Given the description of an element on the screen output the (x, y) to click on. 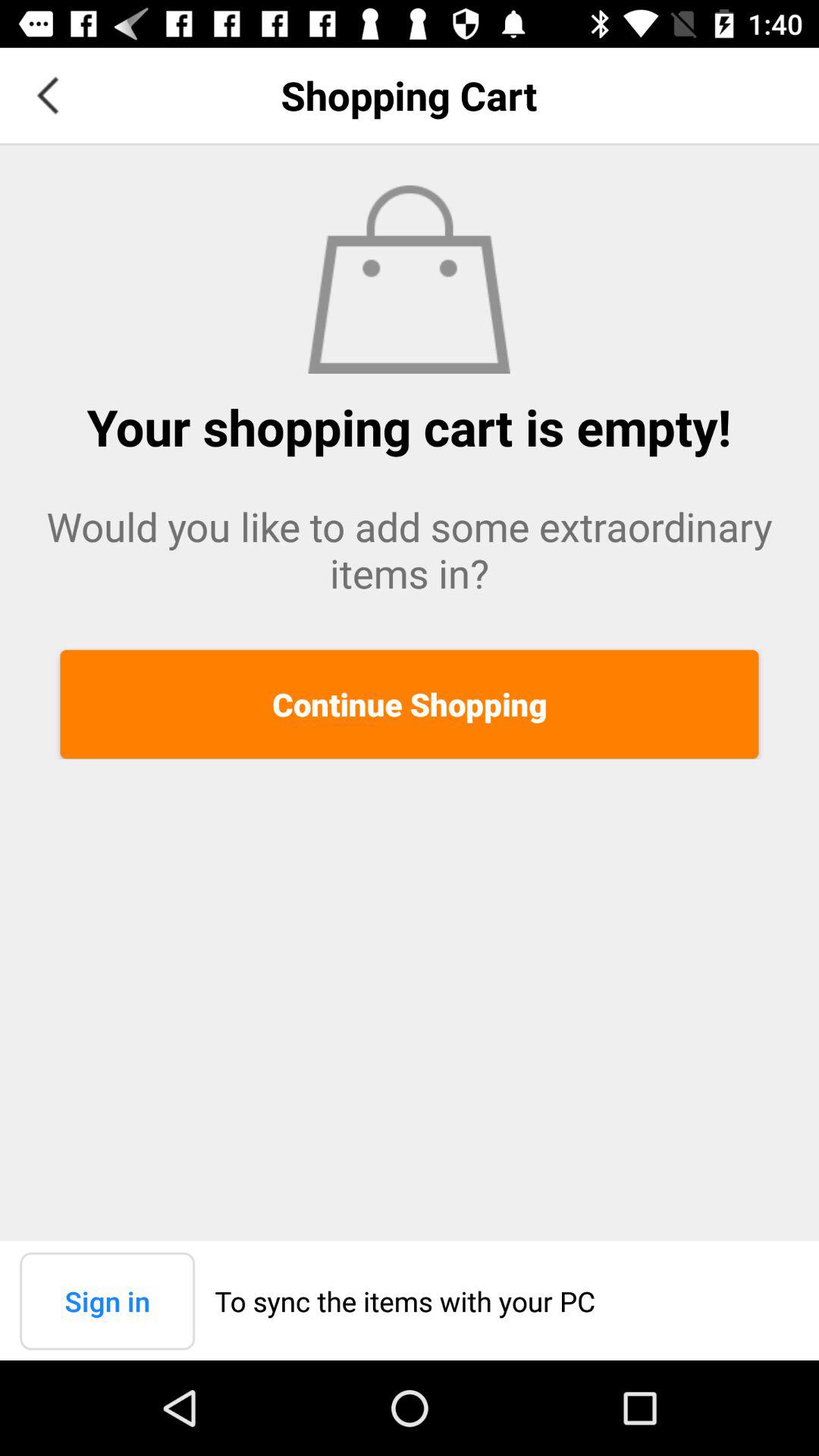
click item at the top left corner (47, 95)
